Given the description of an element on the screen output the (x, y) to click on. 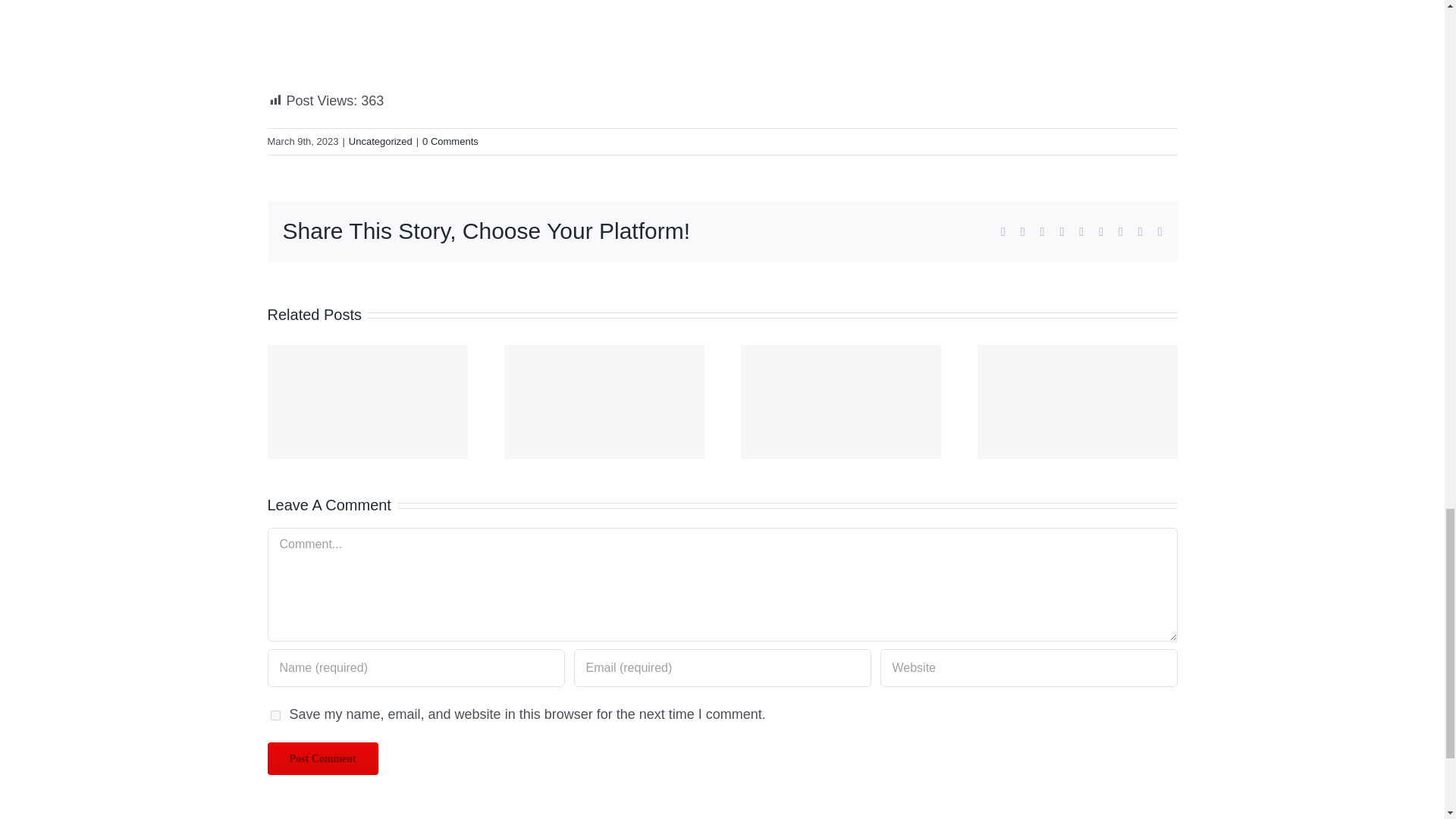
Email (1159, 232)
reddit (1061, 232)
linkedin (1043, 232)
twitter (1022, 232)
pinterest (1120, 232)
Uncategorized (380, 141)
yes (274, 715)
facebook (1003, 232)
whatsapp (1080, 232)
Post Comment (321, 758)
0 Comments (450, 141)
vk (1140, 232)
tumblr (1101, 232)
